Given the description of an element on the screen output the (x, y) to click on. 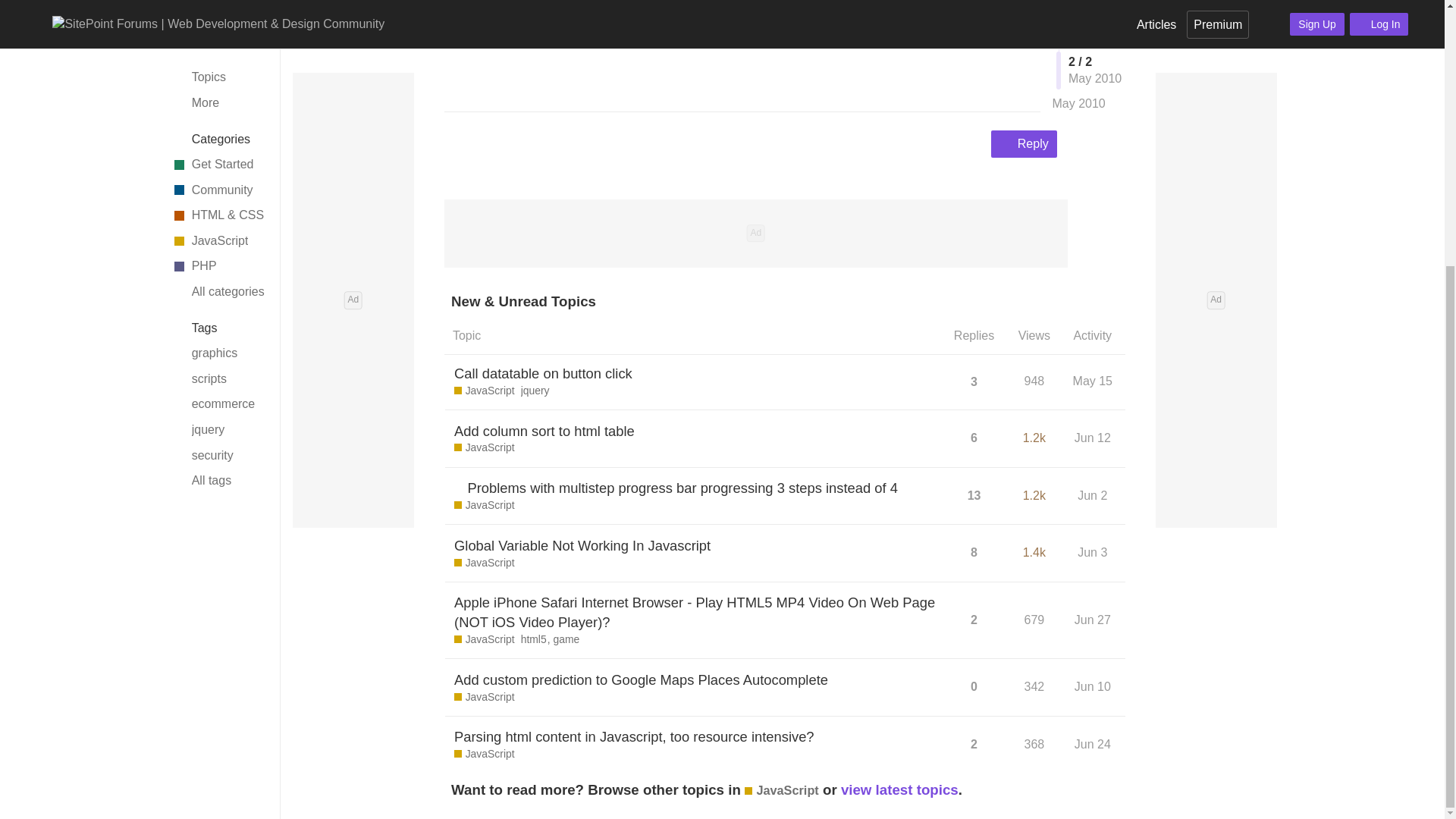
jquery (217, 43)
scripts (217, 2)
security (217, 69)
All tags (217, 95)
Reply (1024, 144)
May 2010 (1078, 2)
ecommerce (217, 18)
JavaScript (484, 391)
Call datatable on button click (542, 373)
Keyboard Shortcuts (258, 416)
